Given the description of an element on the screen output the (x, y) to click on. 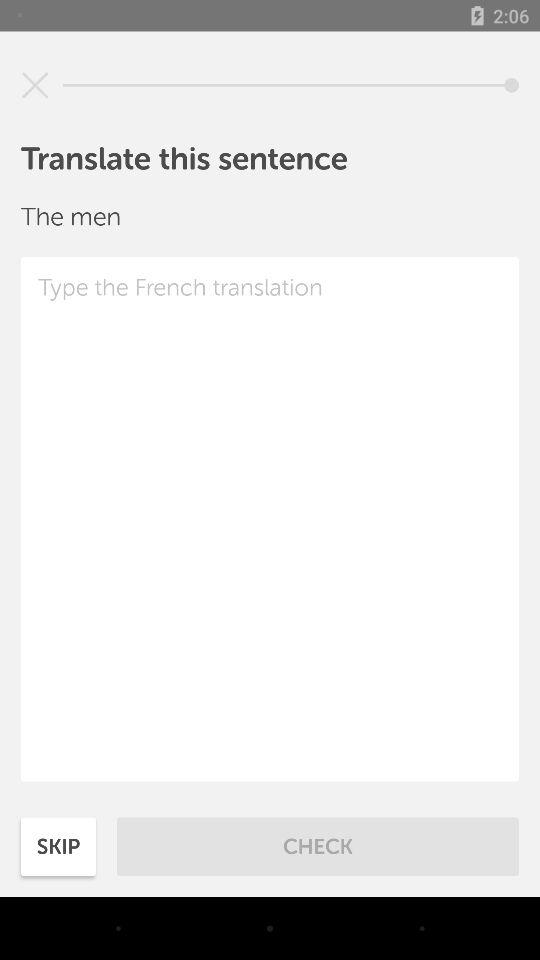
turn off icon at the center (270, 519)
